Given the description of an element on the screen output the (x, y) to click on. 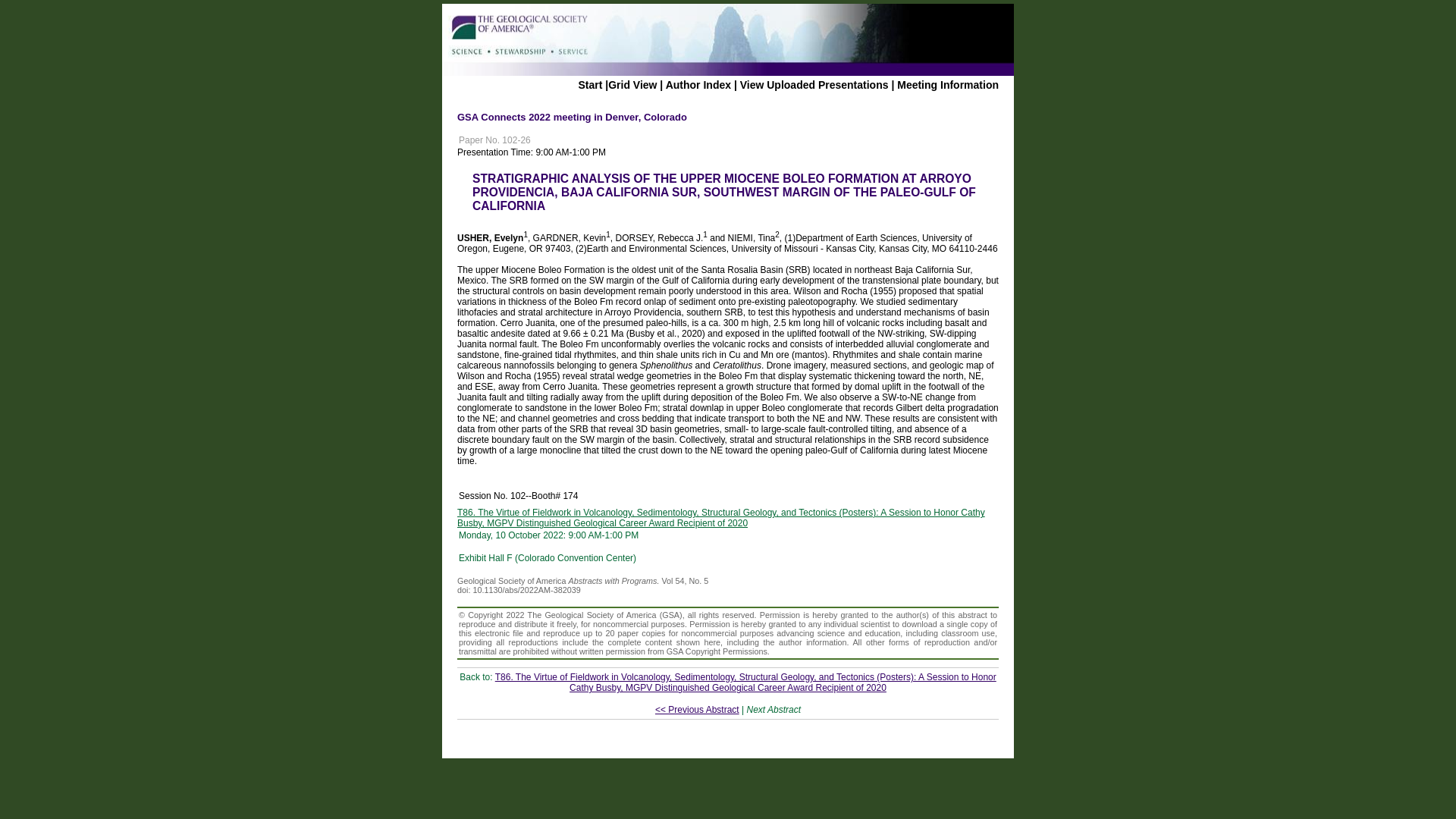
Grid View (632, 84)
Meeting Information (947, 84)
Start (590, 84)
View Uploaded Presentations (813, 84)
Author Index (697, 84)
